Given the description of an element on the screen output the (x, y) to click on. 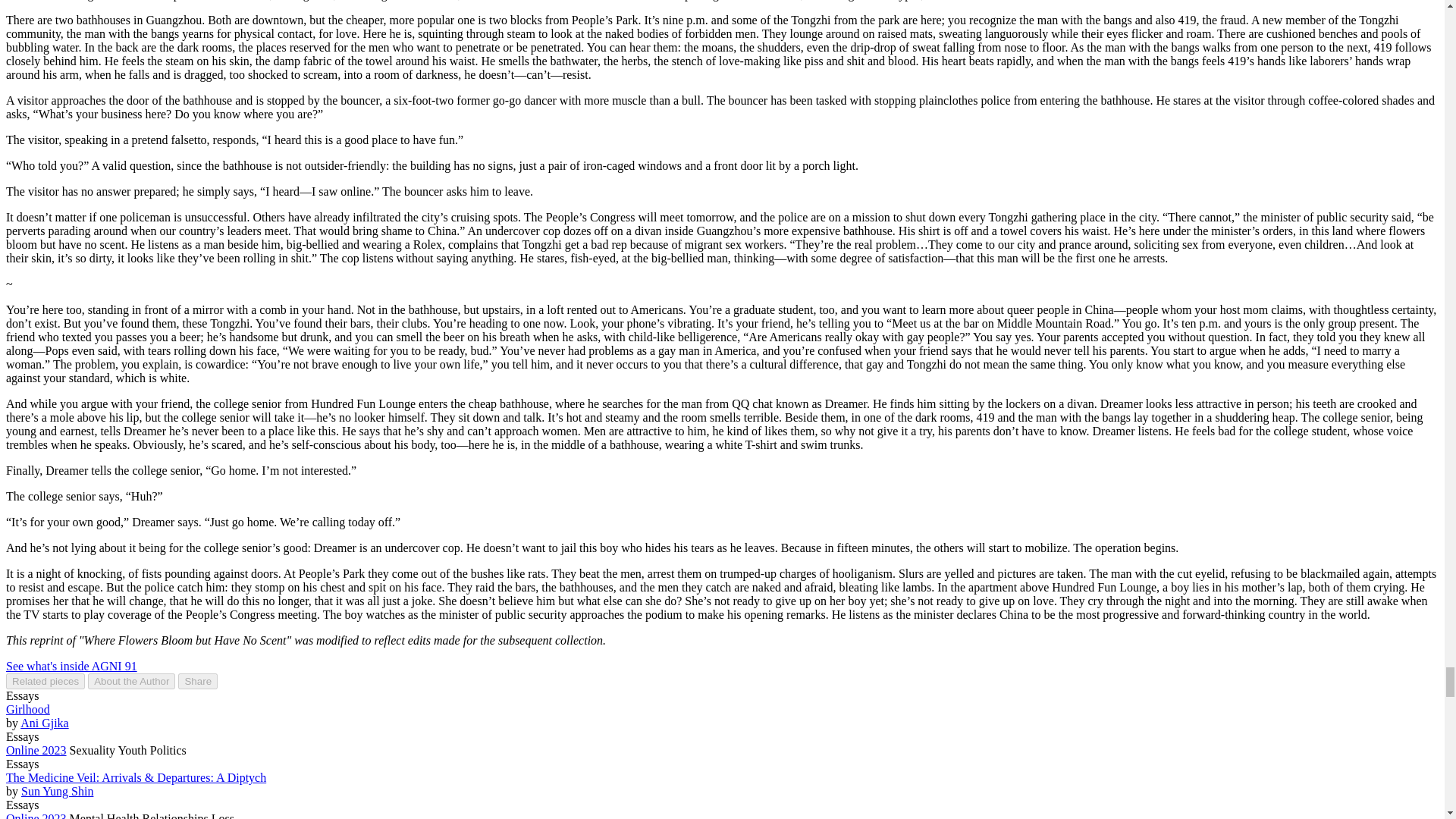
About the Author (130, 681)
Related pieces (44, 681)
See what's inside AGNI 91 (70, 666)
